Given the description of an element on the screen output the (x, y) to click on. 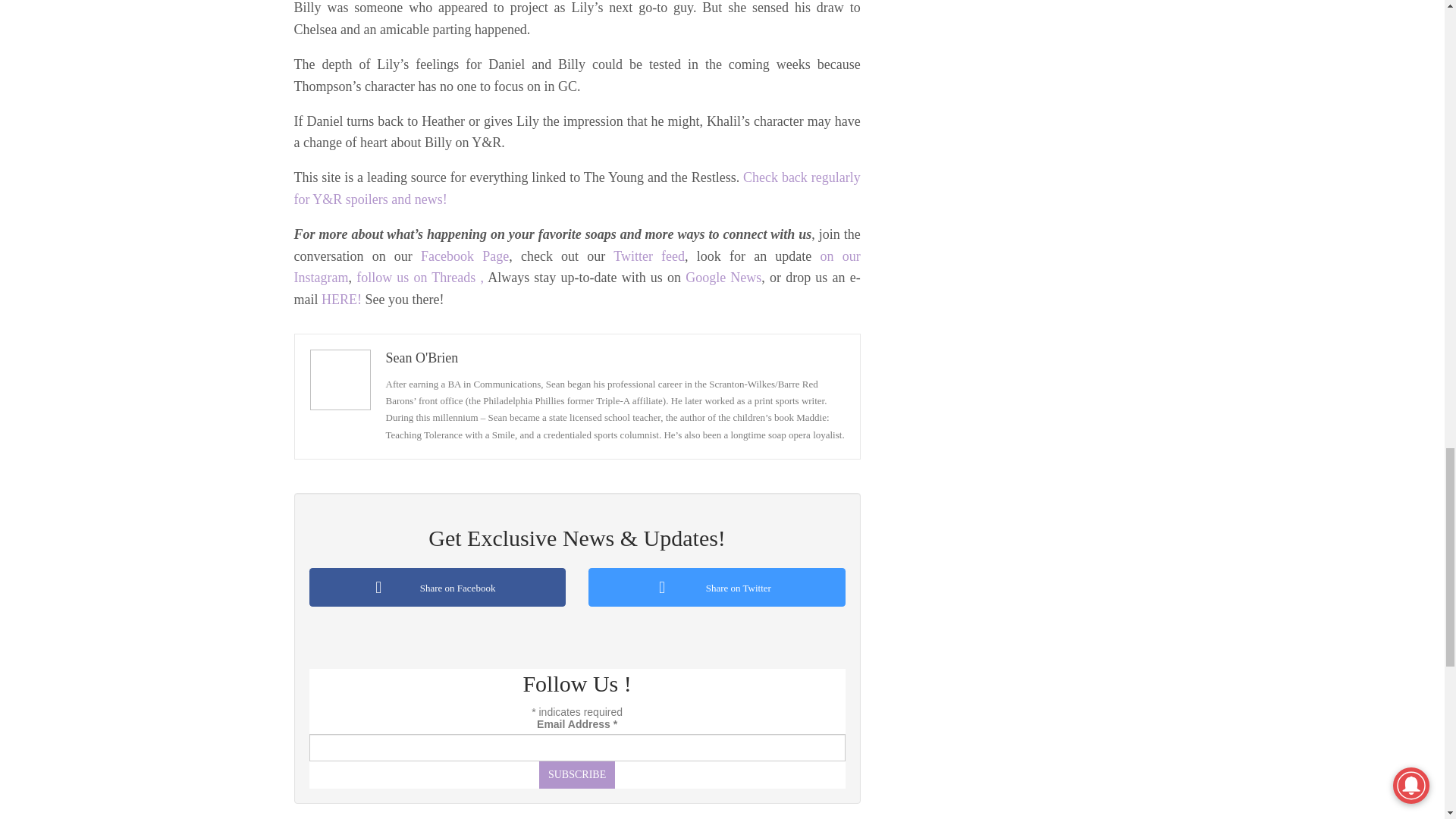
Subscribe (576, 774)
